Given the description of an element on the screen output the (x, y) to click on. 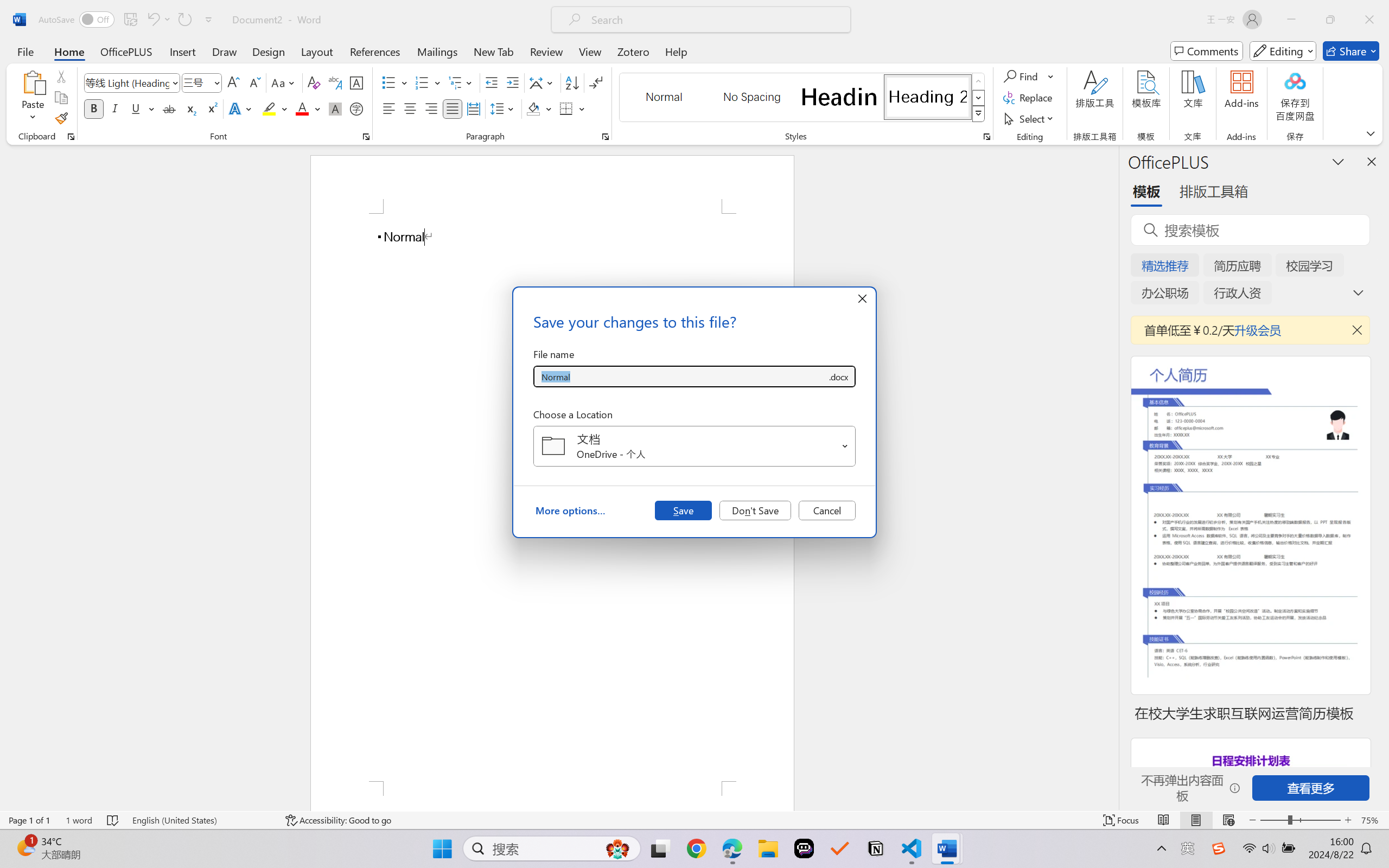
Draw (224, 51)
Row Down (978, 97)
Poe (804, 848)
Shrink Font (253, 82)
Show/Hide Editing Marks (595, 82)
Paste (33, 81)
Font... (365, 136)
Class: Image (1218, 847)
Class: NetUIImage (978, 114)
Row up (978, 81)
Zotero (632, 51)
Paragraph... (605, 136)
Format Painter (60, 118)
